Given the description of an element on the screen output the (x, y) to click on. 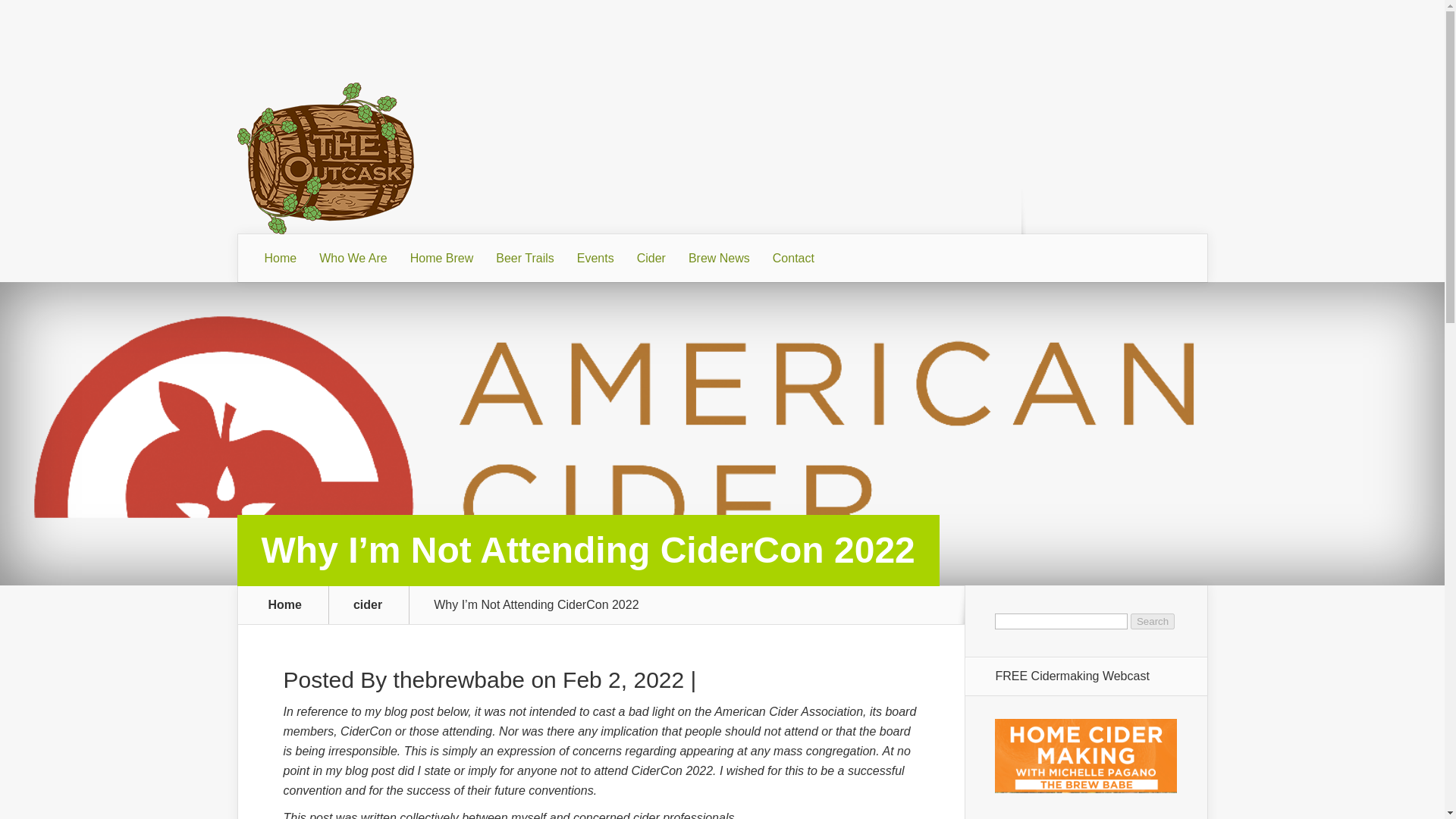
Home (280, 258)
Contact (793, 258)
Events (596, 258)
Brew News (719, 258)
Beer Trails (524, 258)
cider (376, 604)
Home Brew (441, 258)
thebrewbabe (458, 679)
Who We Are (352, 258)
Cider (651, 258)
